Given the description of an element on the screen output the (x, y) to click on. 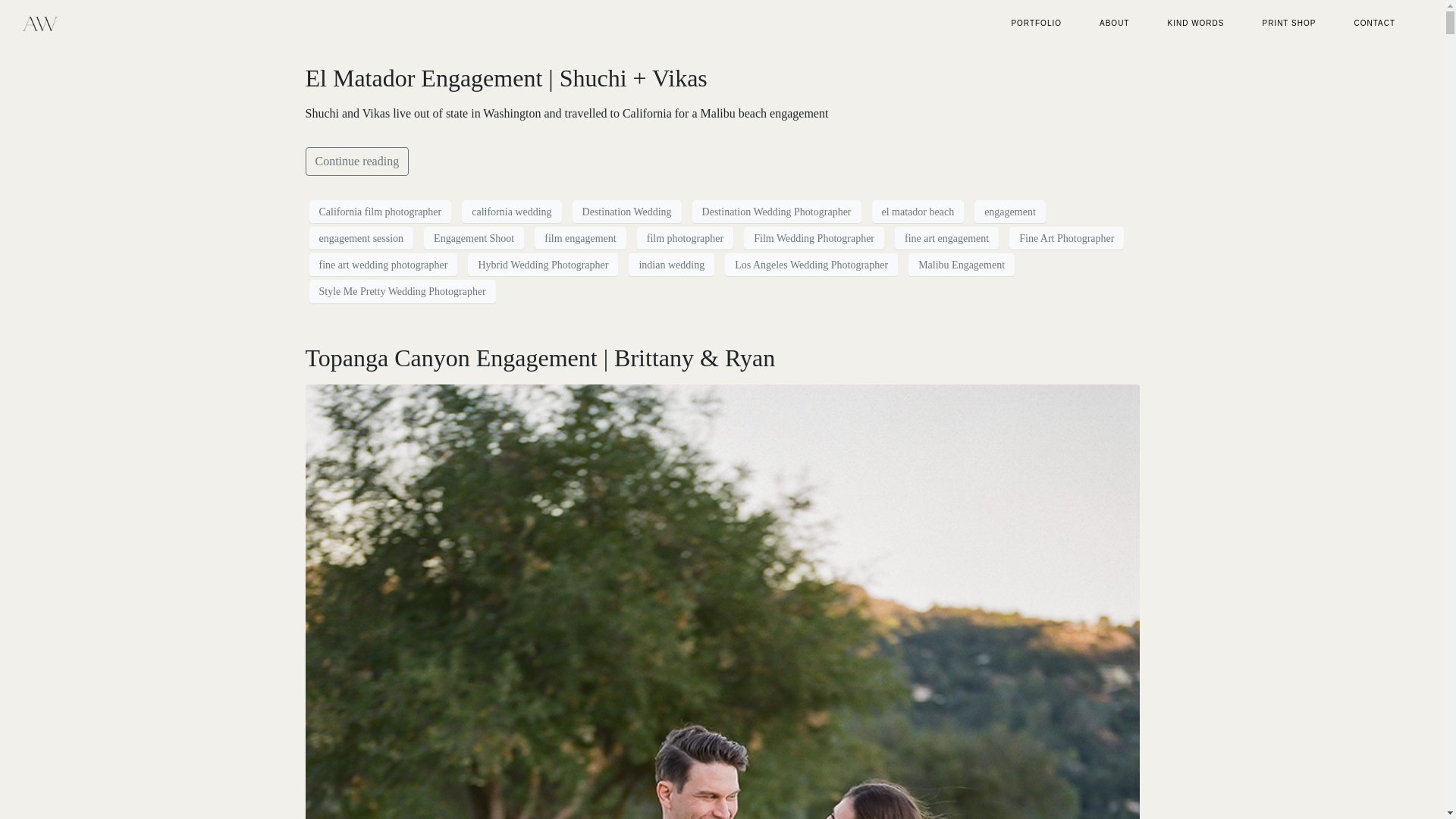
California film photographer (379, 210)
Engagement Shoot (473, 237)
Hybrid Wedding Photographer (542, 264)
Destination Wedding (626, 210)
Style Me Pretty Wedding Photographer (402, 291)
ABOUT (1114, 23)
engagement (1009, 210)
CONTACT (1374, 23)
Malibu Engagement (961, 264)
fine art wedding photographer (383, 264)
